Given the description of an element on the screen output the (x, y) to click on. 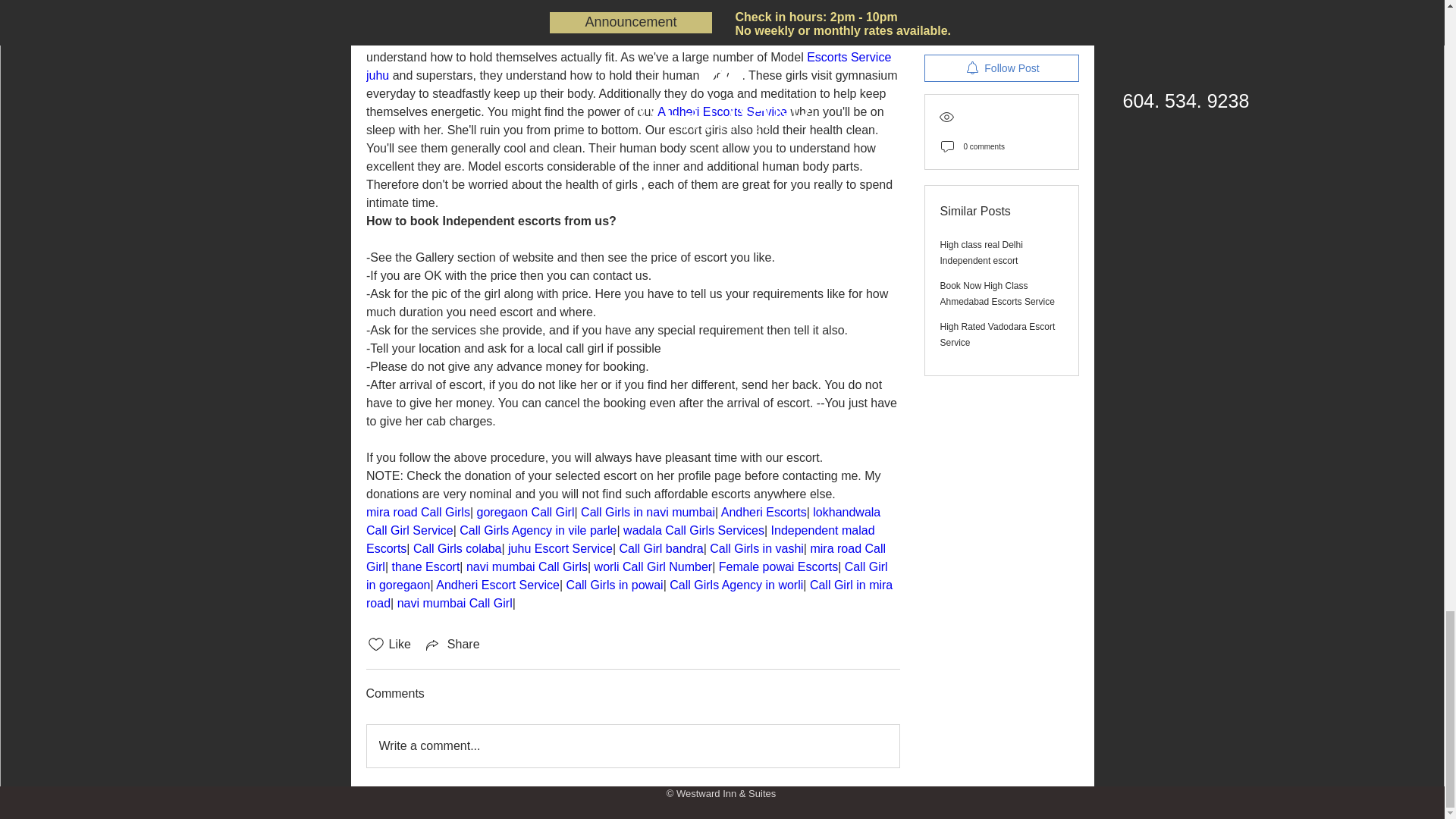
Call Girls in navi mumbai (647, 512)
mira road Call Girls (416, 512)
navi mumbai Escort Service (633, 4)
goregaon Call Girl (524, 512)
Andheri Escorts Service (722, 111)
powai Escorts Service (424, 38)
Escorts Service juhu (629, 65)
